Given the description of an element on the screen output the (x, y) to click on. 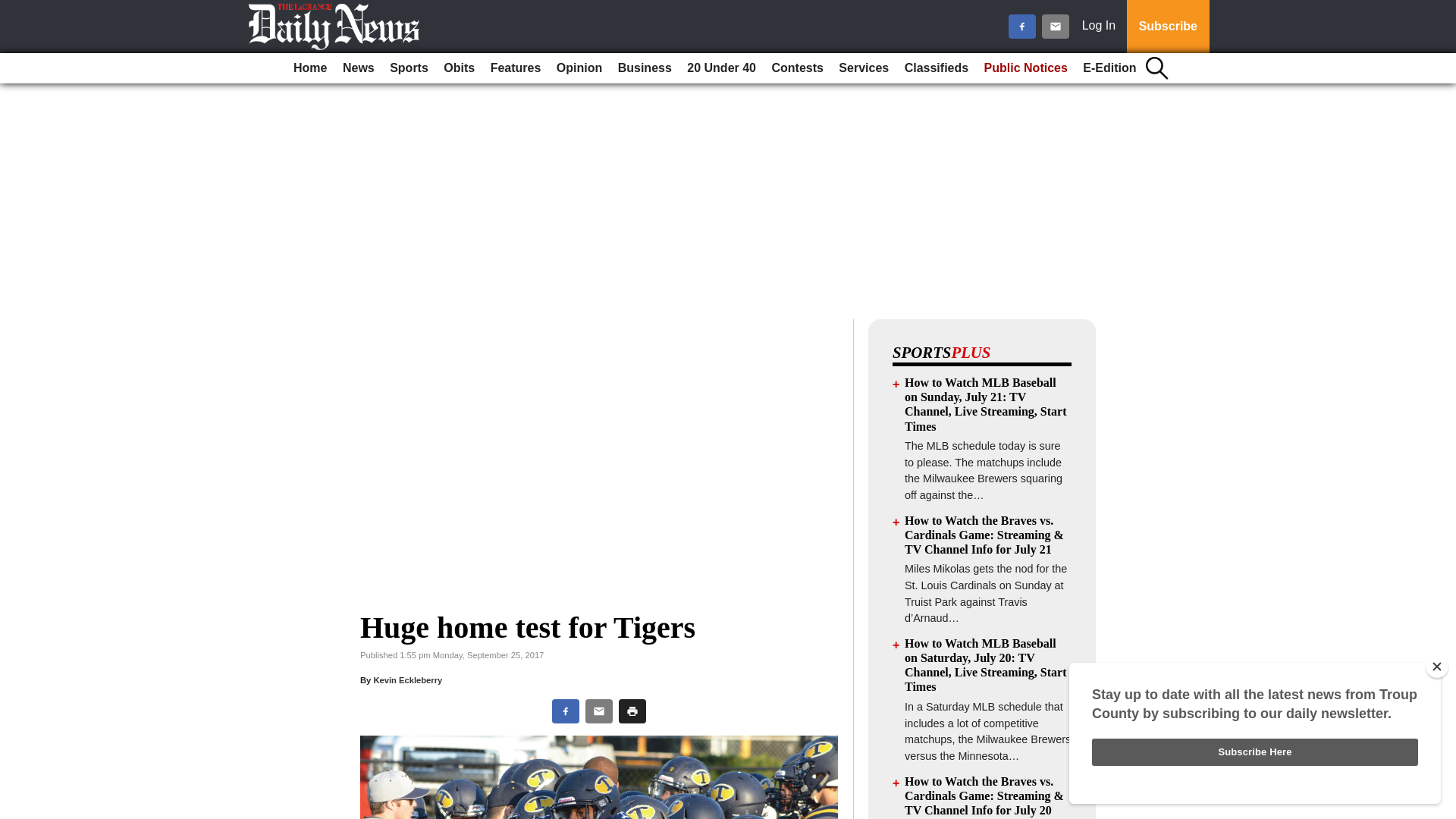
Opinion (579, 68)
Log In (1101, 26)
Kevin Eckleberry (407, 679)
News (358, 68)
Sports (408, 68)
Contests (796, 68)
3rd party ad content (727, 212)
Services (863, 68)
Classifieds (936, 68)
E-Edition (1109, 68)
Subscribe (1167, 26)
Home (309, 68)
Obits (459, 68)
Business (644, 68)
